Given the description of an element on the screen output the (x, y) to click on. 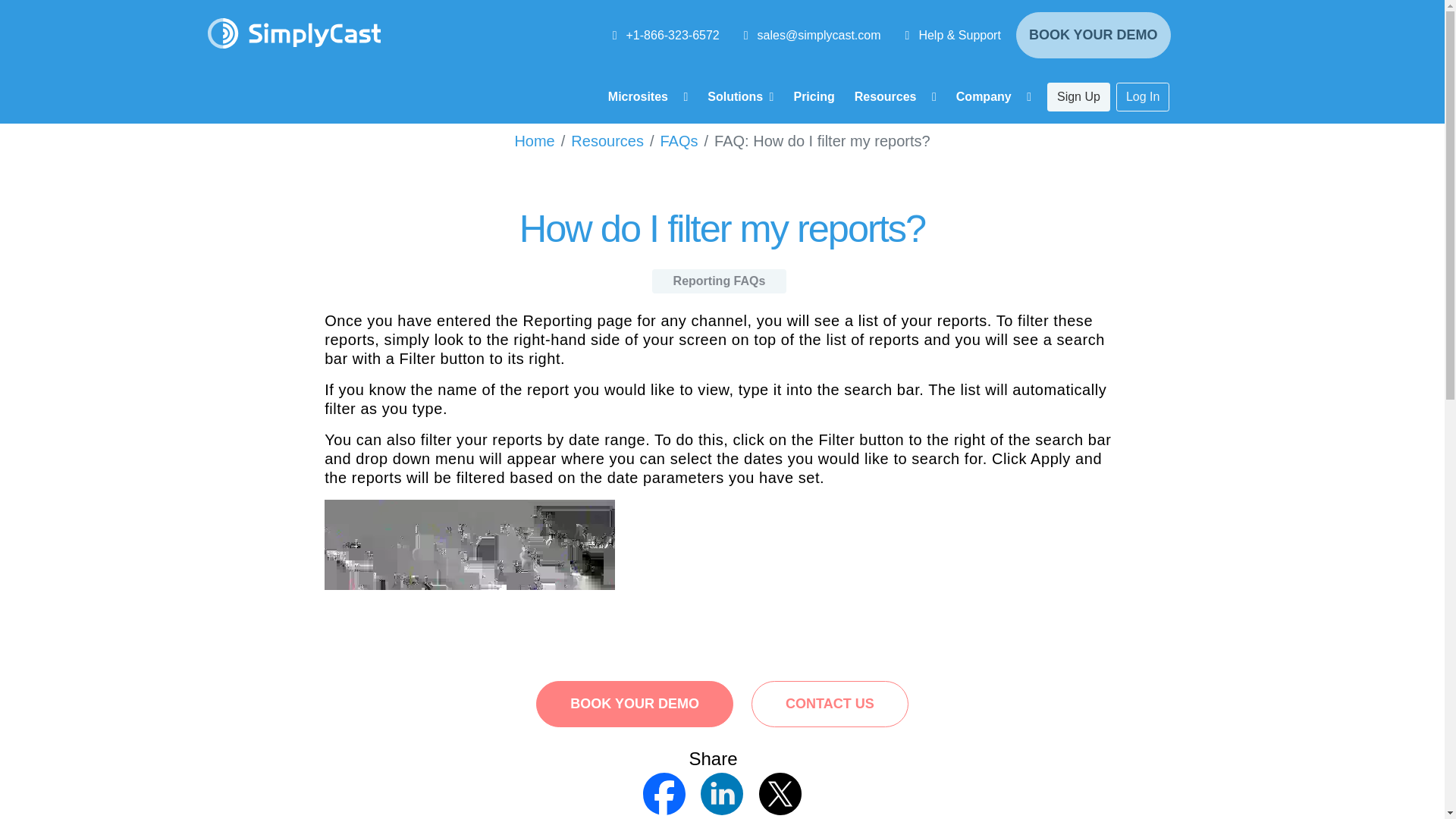
Solutions (740, 96)
BOOK YOUR DEMO (1093, 35)
Microsites (647, 96)
Facebook (665, 792)
LinkedIn (722, 792)
